Given the description of an element on the screen output the (x, y) to click on. 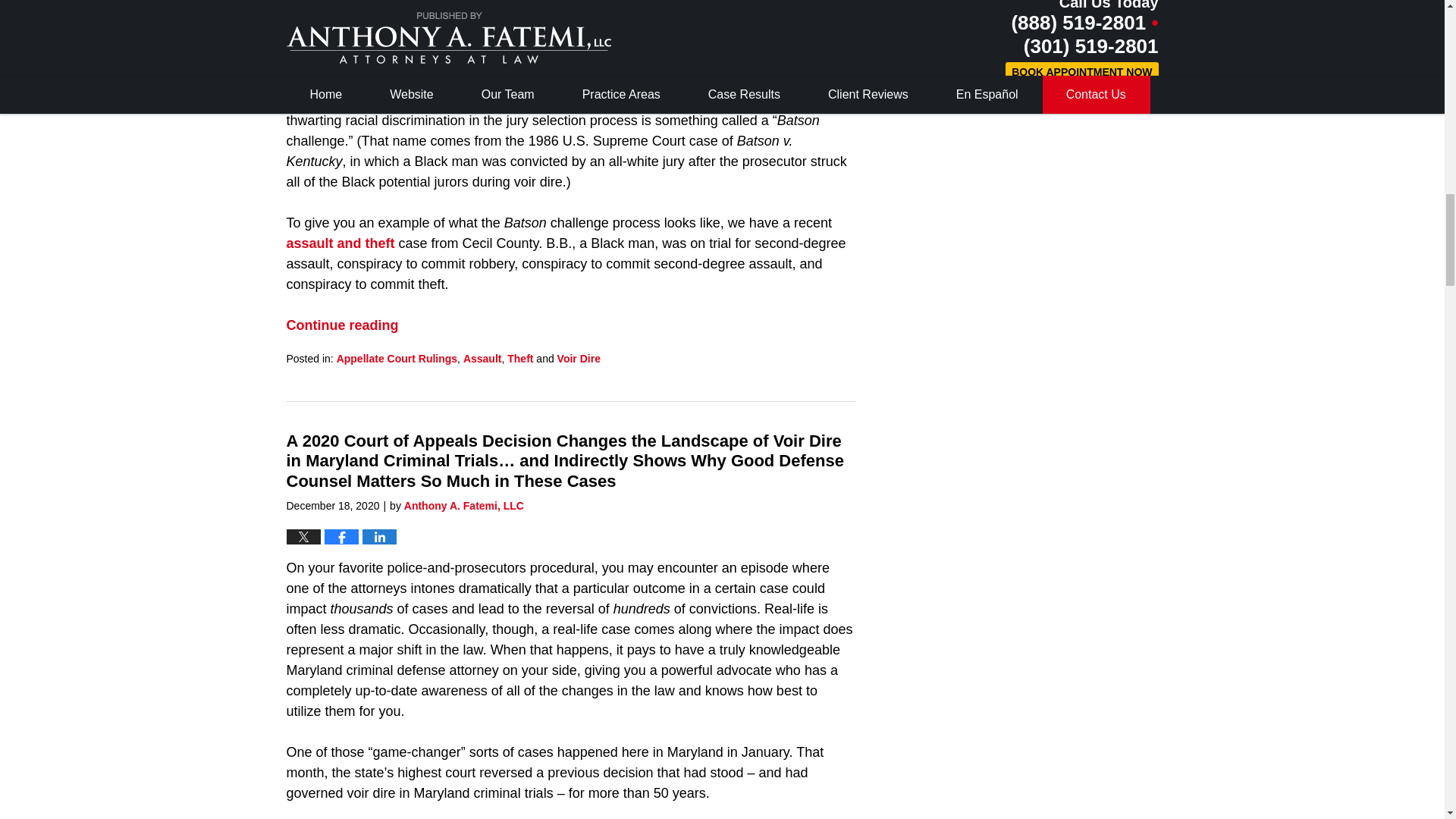
View all posts in Theft (519, 358)
View all posts in Appellate Court Rulings (396, 358)
View all posts in Assault (482, 358)
View all posts in Voir Dire (578, 358)
